Given the description of an element on the screen output the (x, y) to click on. 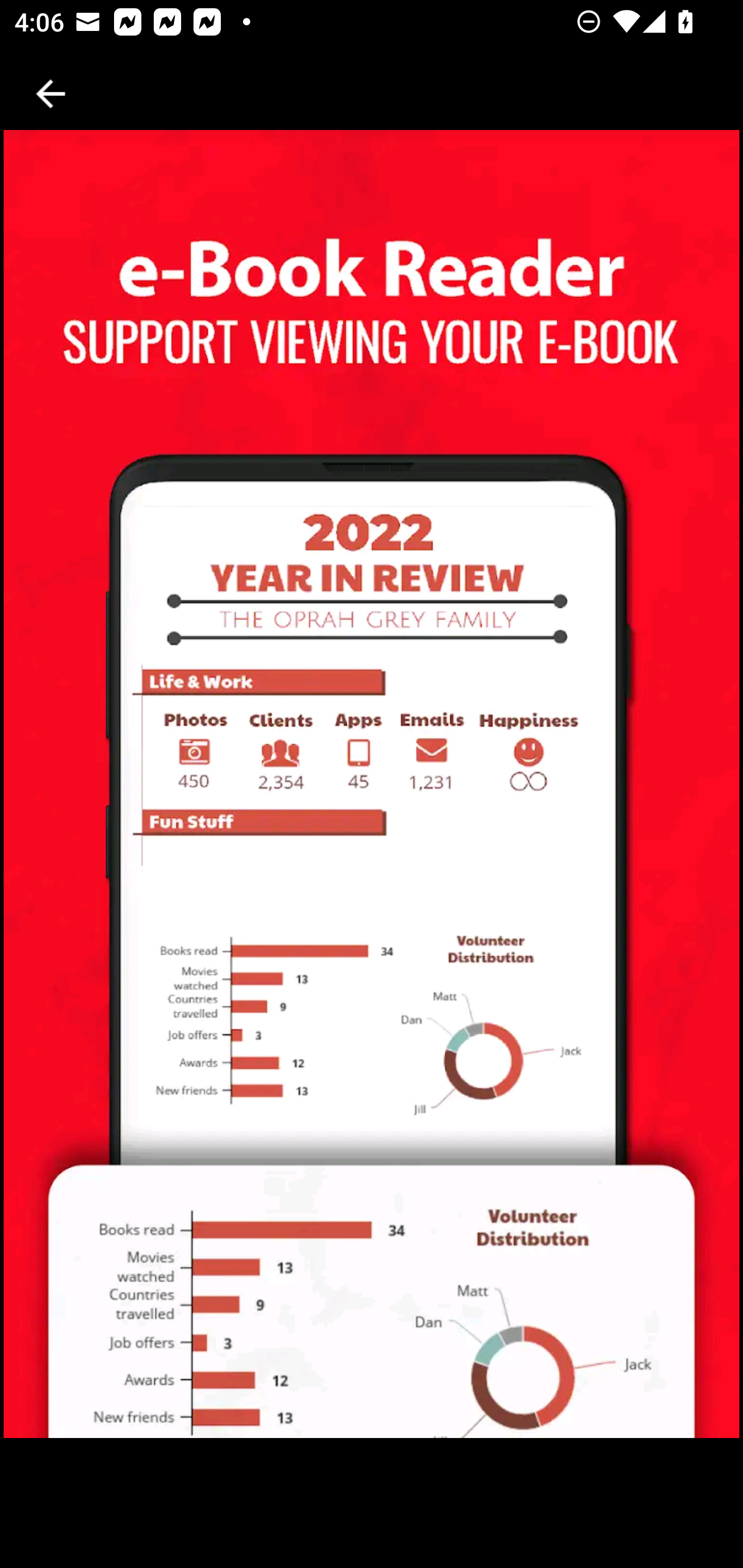
Back (50, 93)
